Given the description of an element on the screen output the (x, y) to click on. 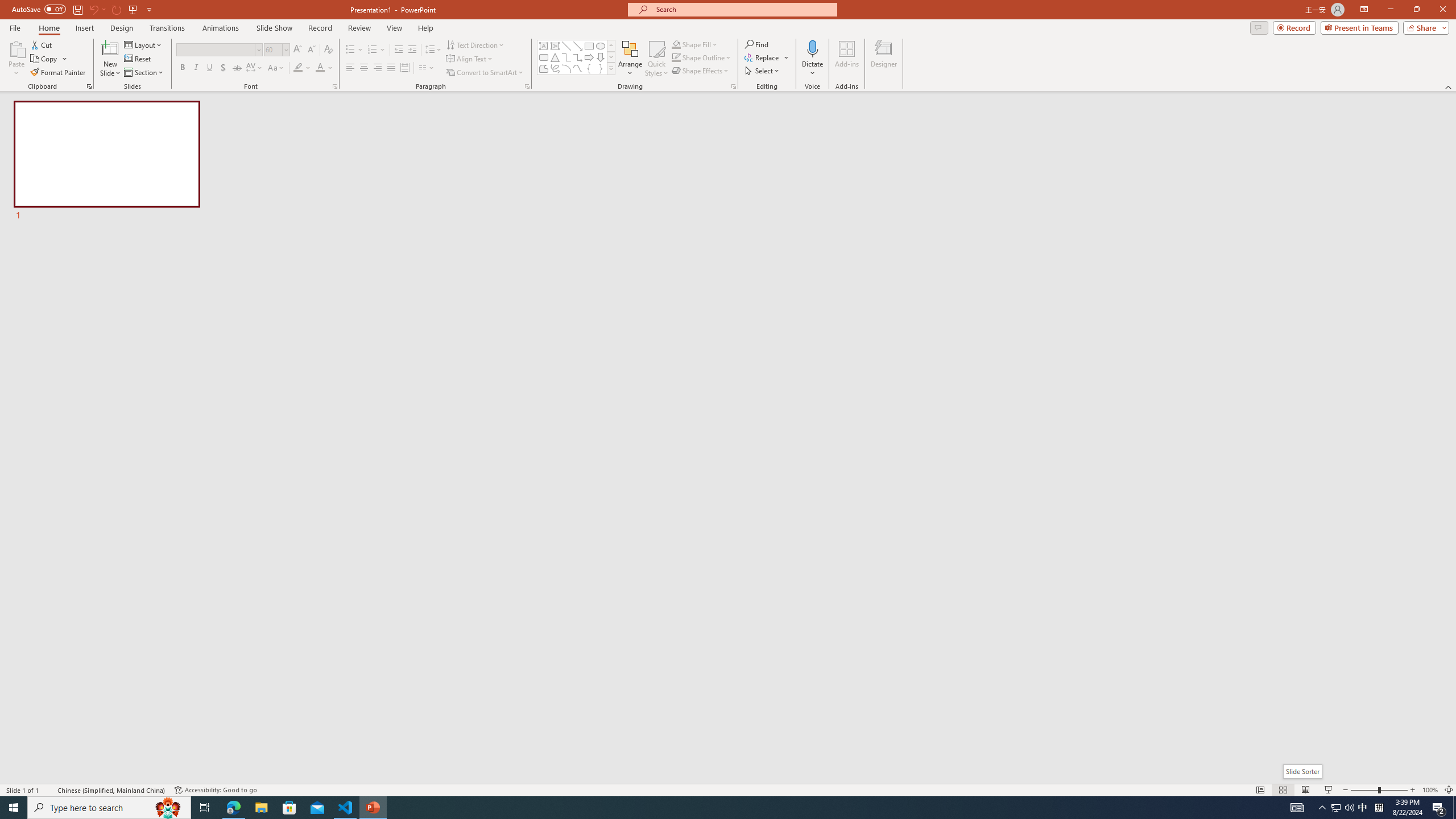
Reading View (1305, 790)
Slide Sorter (1302, 771)
Paste (16, 58)
Rectangle: Rounded Corners (543, 57)
Zoom In (1412, 790)
Text Highlight Color (302, 67)
Cut (42, 44)
Font Size (273, 49)
Underline (209, 67)
Copy (49, 58)
Customize Quick Access Toolbar (149, 9)
Align Text (470, 58)
Numbering (372, 49)
